Given the description of an element on the screen output the (x, y) to click on. 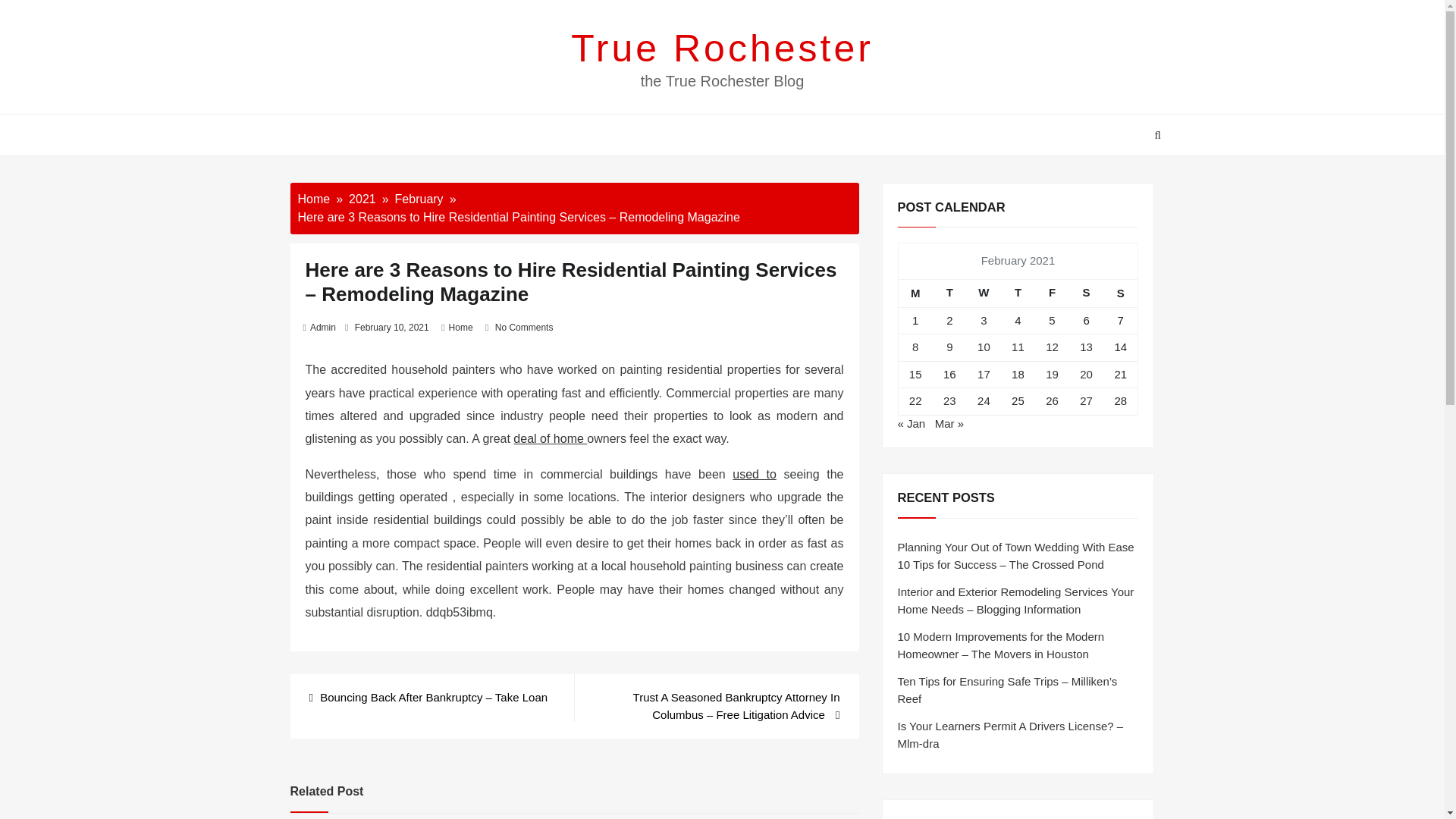
12 (1051, 346)
Saturday (1085, 293)
10 (983, 346)
used to (754, 473)
13 (1086, 346)
February 10, 2021 (392, 327)
Wednesday (983, 293)
True Rochester (721, 48)
19 (1051, 373)
11 (1018, 346)
